Given the description of an element on the screen output the (x, y) to click on. 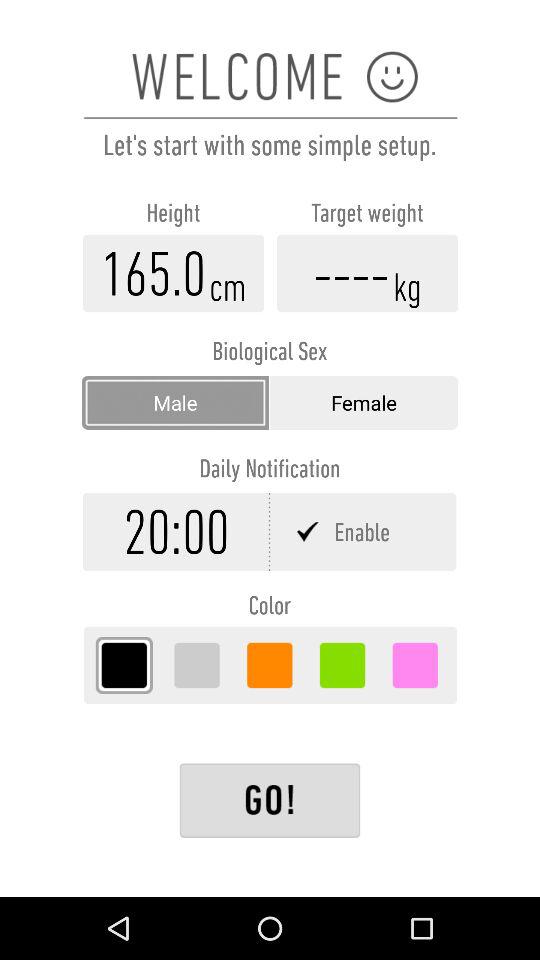
select grey color (196, 665)
